Given the description of an element on the screen output the (x, y) to click on. 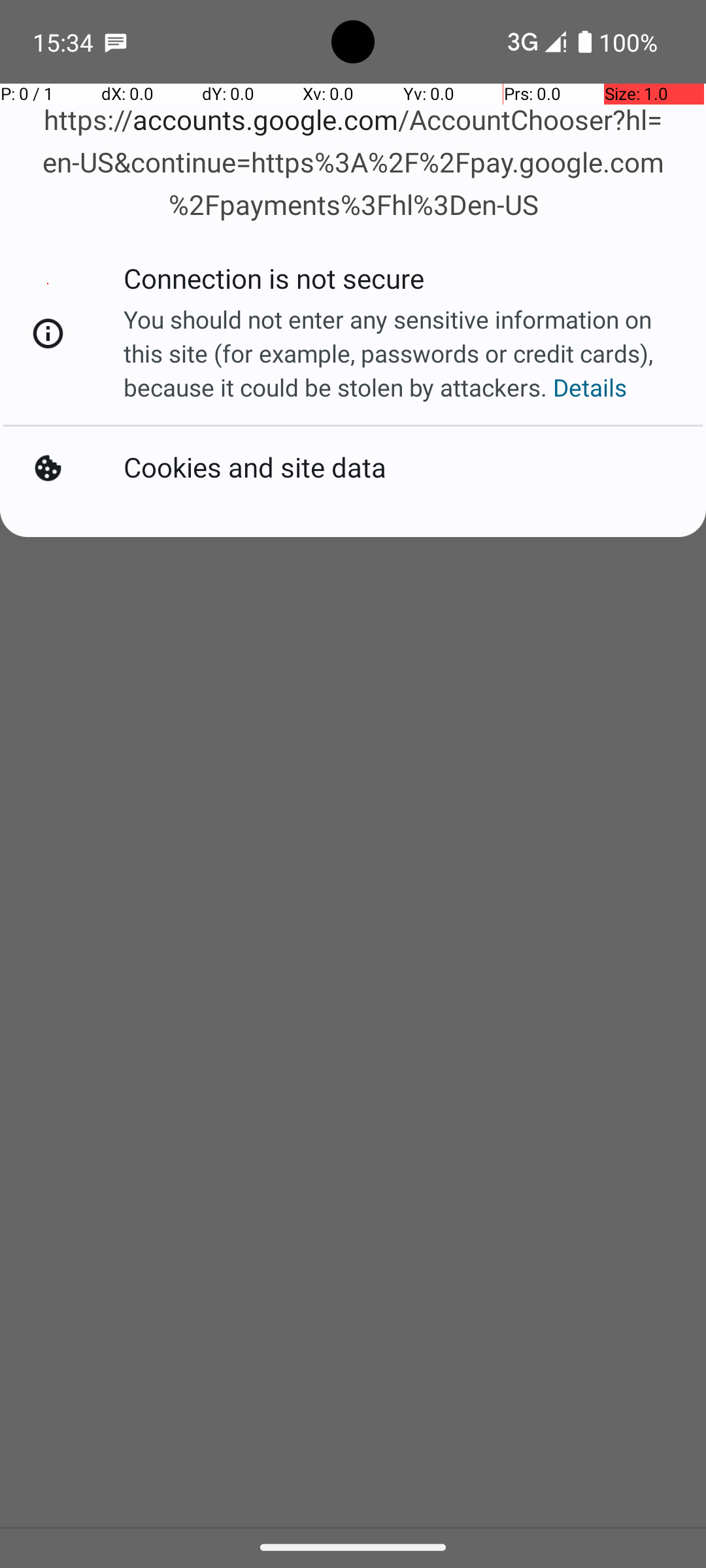
https://accounts.google.com/AccountChooser?hl=en-US&continue=https%3A%2F%2Fpay.google.com%2Fpayments%3Fhl%3Den-US Element type: android.widget.TextView (352, 162)
You should not enter any sensitive information on this site (for example, passwords or credit cards), because it could be stolen by attackers. Details Element type: android.widget.TextView (399, 353)
Cookies and site data Element type: android.widget.TextView (257, 465)
